Given the description of an element on the screen output the (x, y) to click on. 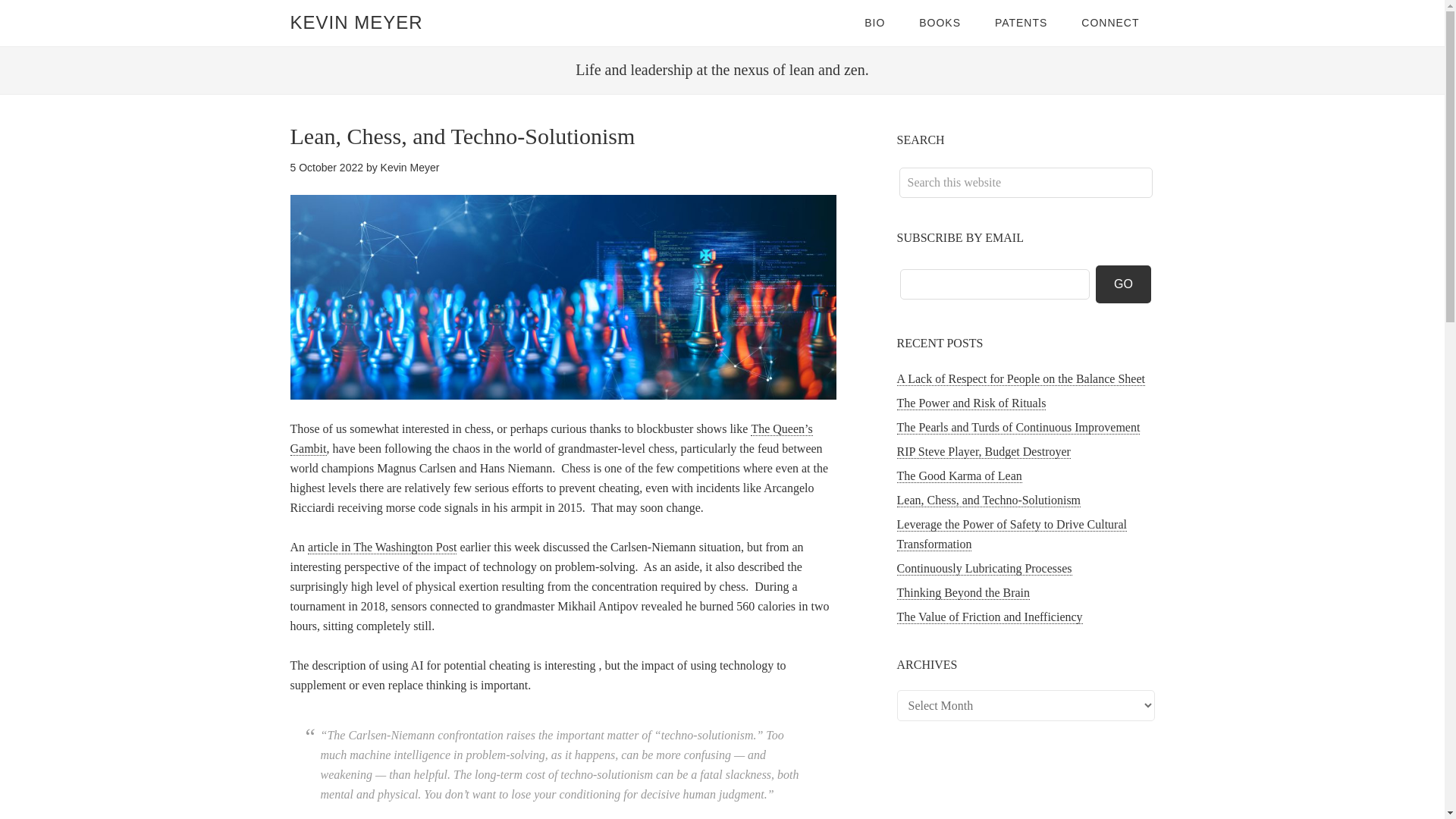
Thinking Beyond the Brain (962, 592)
article in The Washington Post (382, 547)
Go (1123, 284)
Kevin Meyer (409, 167)
The Value of Friction and Inefficiency (988, 617)
The Good Karma of Lean (959, 476)
KEVIN MEYER (355, 22)
PATENTS (1020, 22)
The Power and Risk of Rituals (970, 403)
The Pearls and Turds of Continuous Improvement (1018, 427)
Go (1123, 284)
Continuously Lubricating Processes (983, 568)
